Given the description of an element on the screen output the (x, y) to click on. 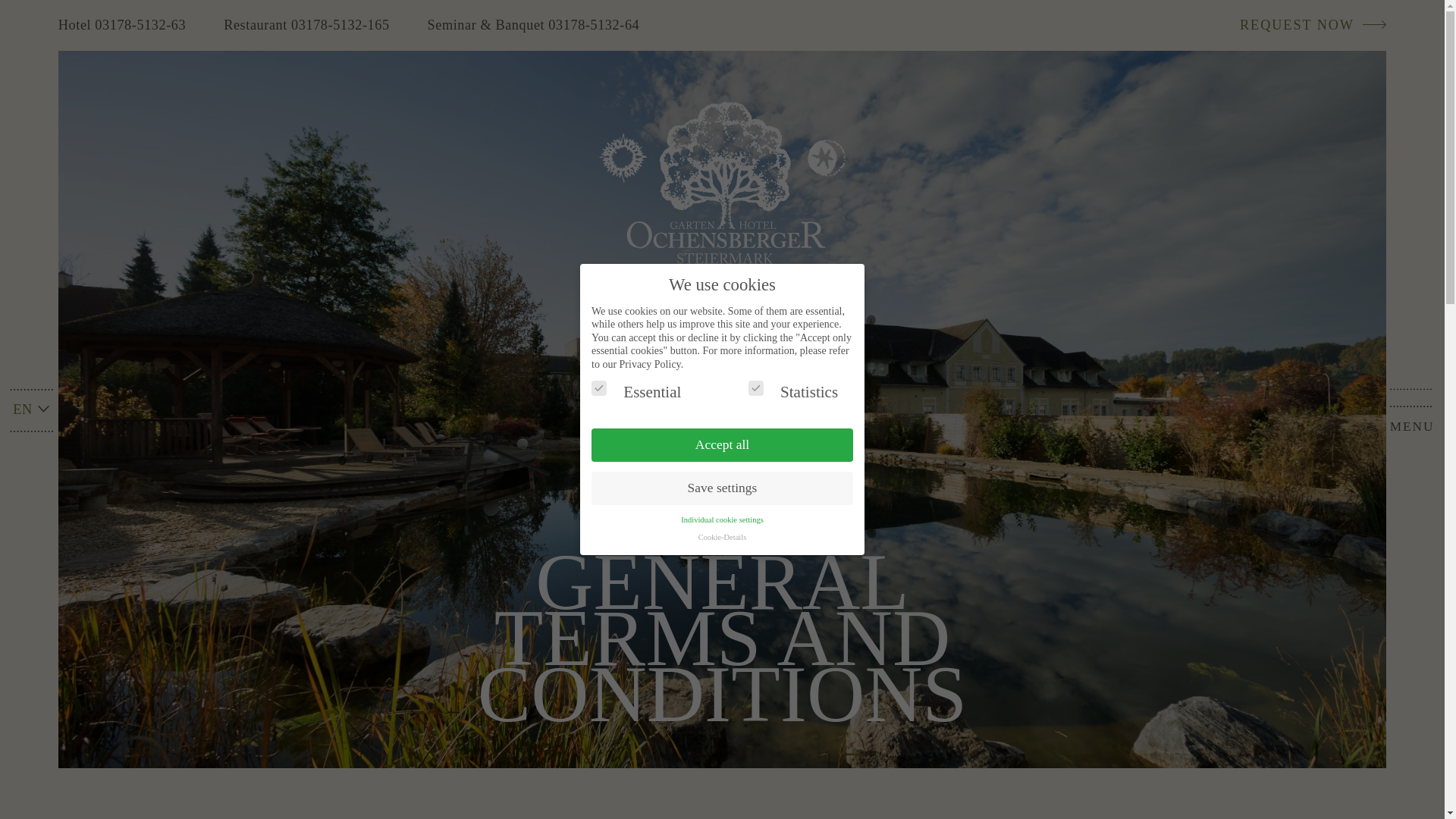
ochensberger.at (721, 188)
Hotel 03178-5132-63 (131, 25)
EN (31, 409)
item (1303, 25)
Restaurant 03178-5132-165 (306, 25)
MENU (1412, 409)
REQUEST NOW (1303, 25)
